Given the description of an element on the screen output the (x, y) to click on. 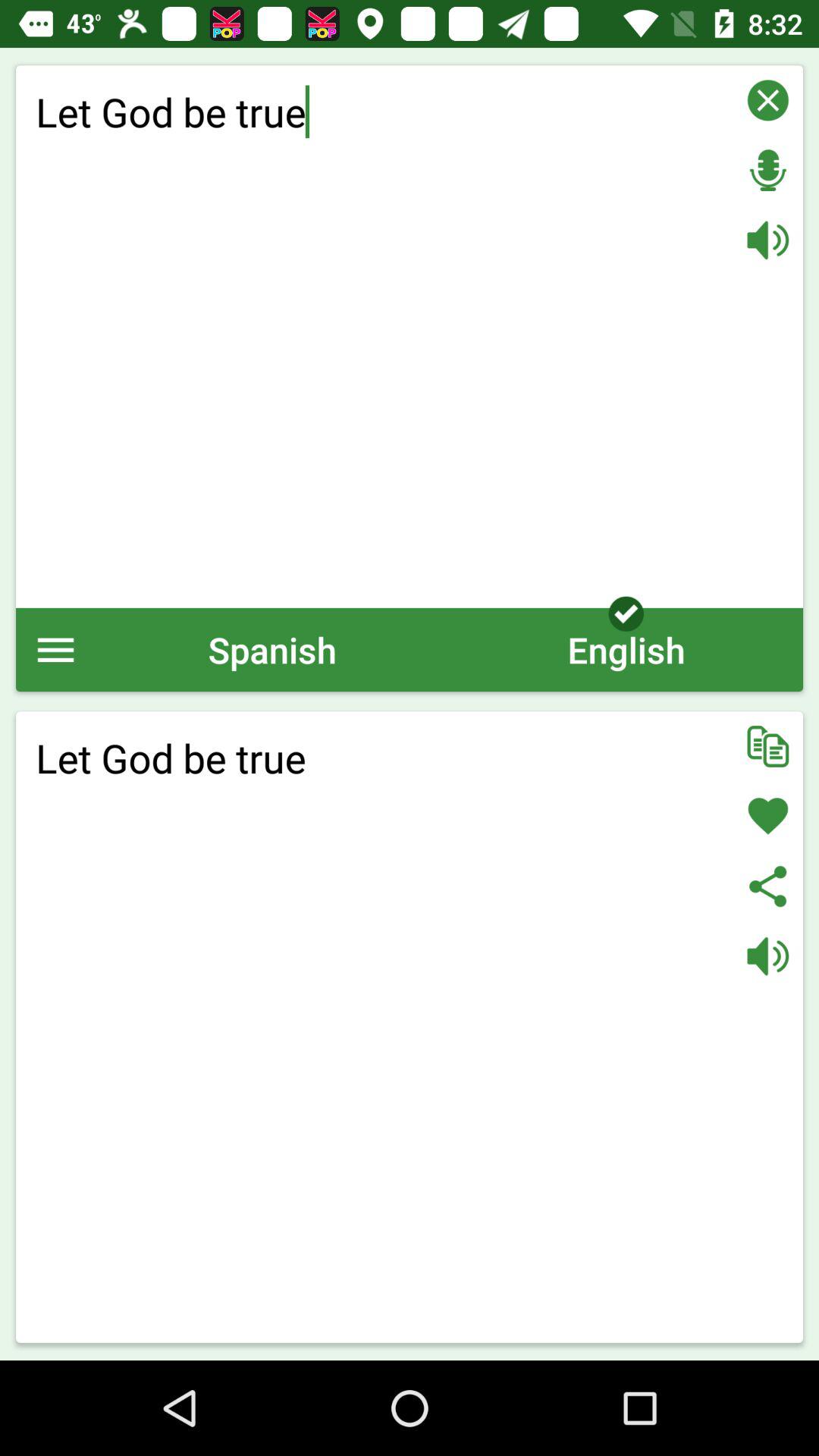
tap the icon above the let god be (626, 649)
